Given the description of an element on the screen output the (x, y) to click on. 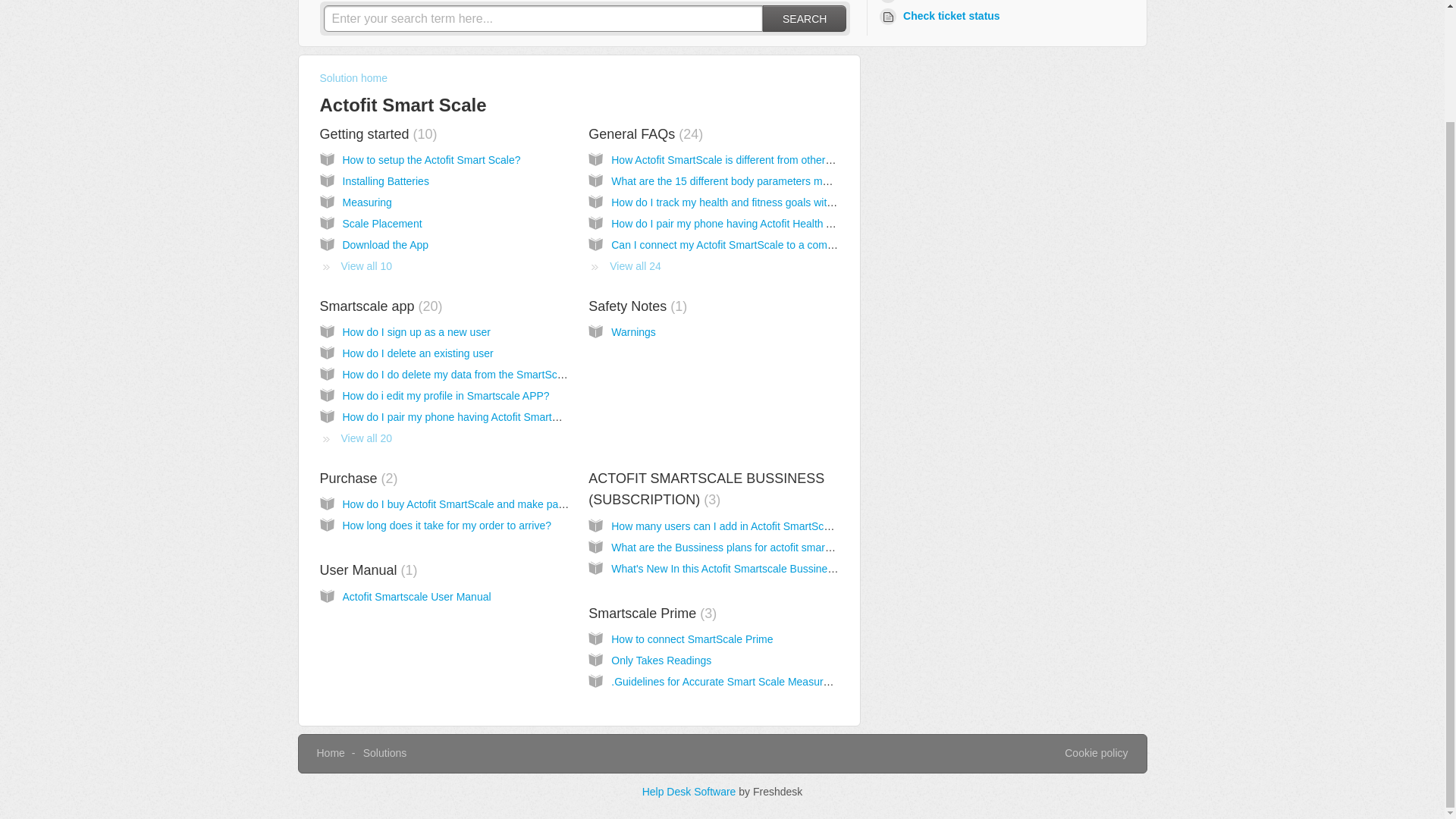
How do I delete an existing user (417, 353)
View all 24 (624, 265)
How do I buy Actofit SmartScale and make payment? (468, 503)
Getting started 10 (379, 133)
Smartscale app 20 (381, 305)
Safety Notes 1 (637, 305)
How do I sign up as a new user (416, 331)
Smartscale Prime (652, 613)
View all 10 (355, 265)
New support ticket (940, 2)
Getting started (379, 133)
